Given the description of an element on the screen output the (x, y) to click on. 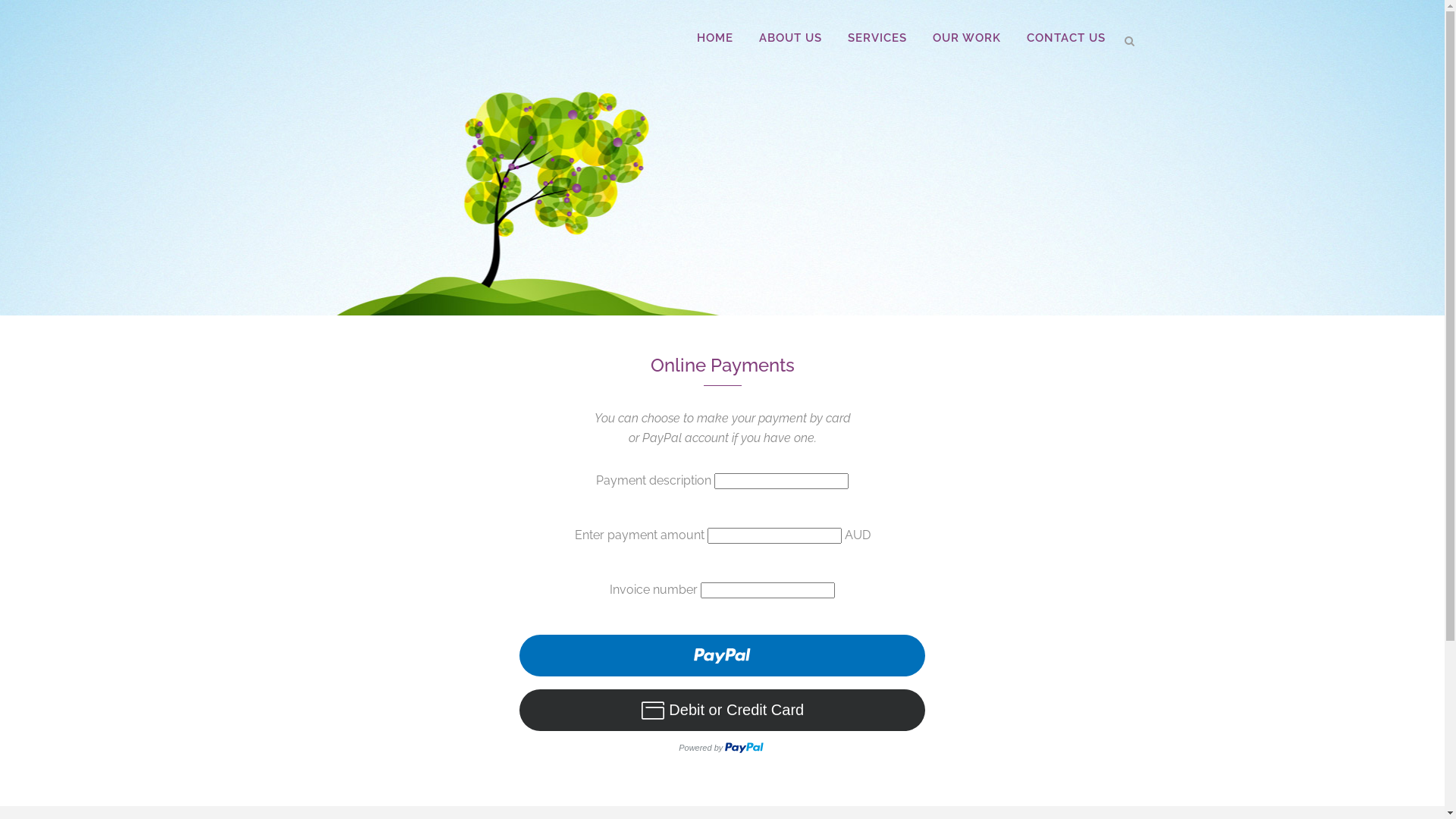
HOME Element type: text (715, 37)
ABOUT US Element type: text (790, 37)
CONTACT US Element type: text (1065, 37)
SERVICES Element type: text (876, 37)
PayPal Element type: hover (722, 698)
OUR WORK Element type: text (966, 37)
